Given the description of an element on the screen output the (x, y) to click on. 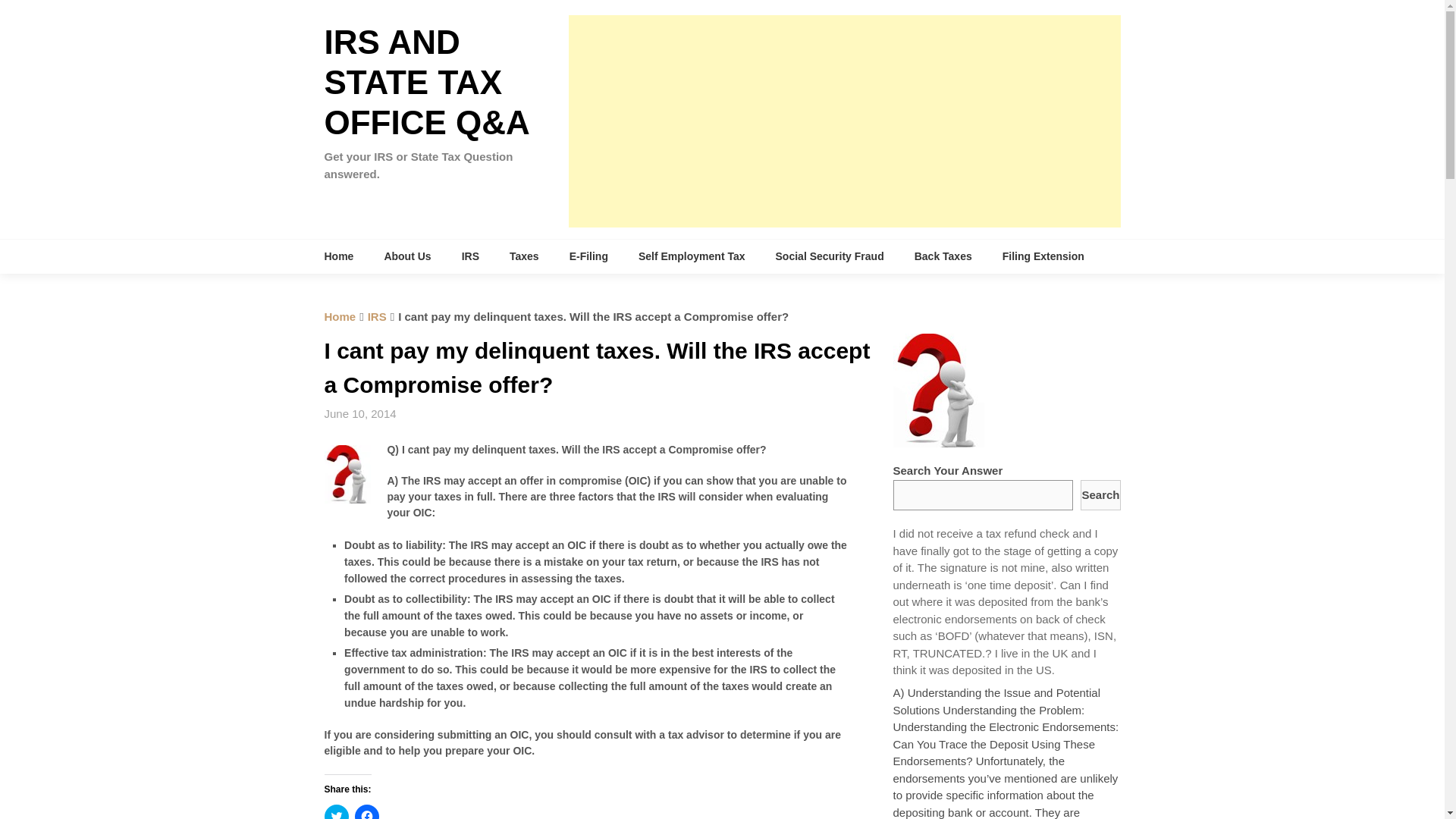
Home (346, 256)
Advertisement (845, 121)
Click to share on Twitter (336, 811)
Self Employment Tax (691, 256)
IRS (470, 256)
Back Taxes (943, 256)
E-Filing (588, 256)
Click to share on Facebook (366, 811)
Social Security Fraud (829, 256)
About Us (406, 256)
